Given the description of an element on the screen output the (x, y) to click on. 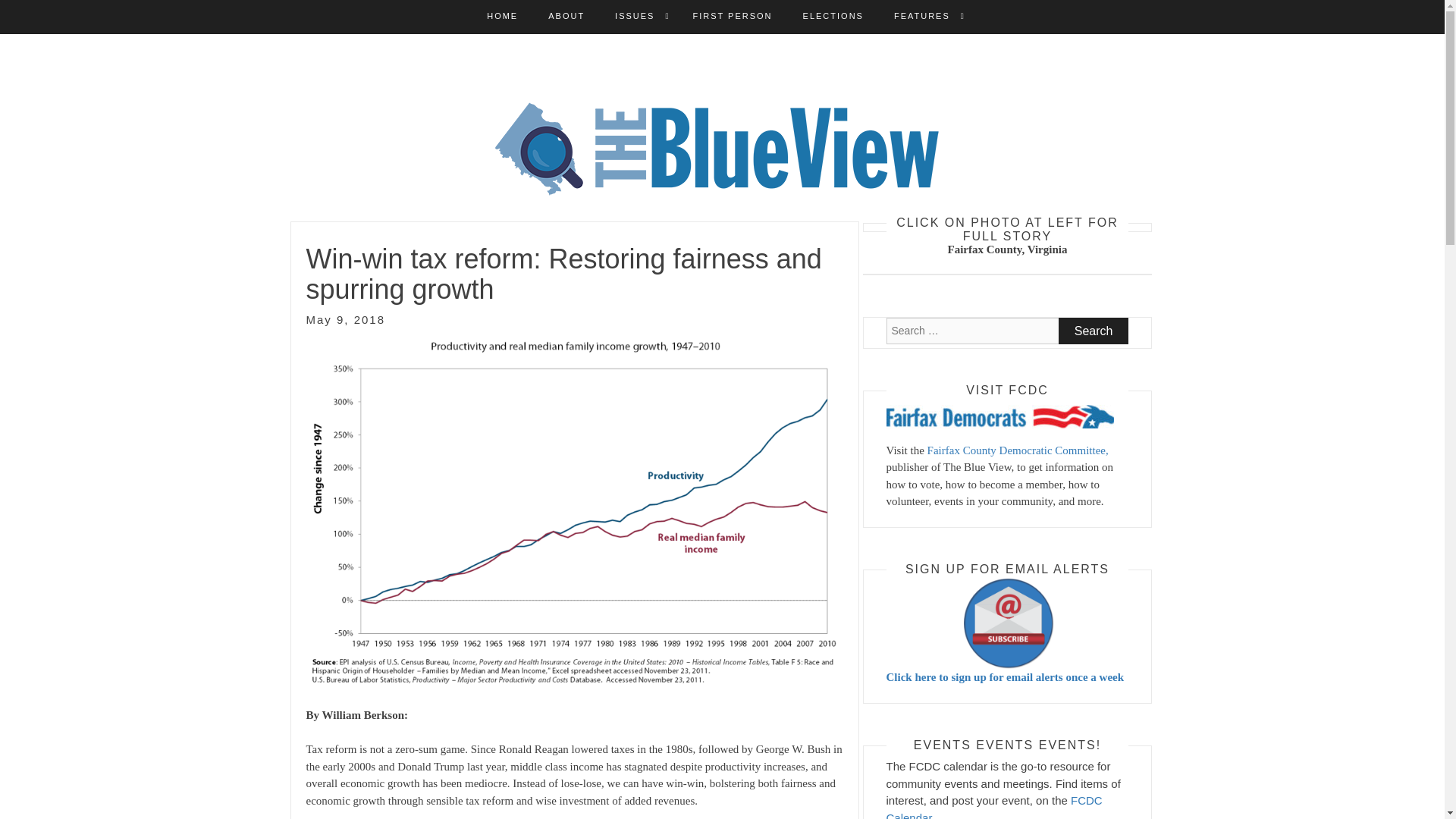
Fairfax County Democratic Committee, (1017, 450)
ISSUES (633, 17)
FEATURES (921, 17)
ELECTIONS (833, 17)
FCDC Calendar (993, 806)
ABOUT (566, 17)
FIRST PERSON (732, 17)
HOME (502, 17)
Search (1093, 330)
Search (1093, 330)
Search (1093, 330)
Click here to sign up for email alerts once a week (1006, 630)
